Given the description of an element on the screen output the (x, y) to click on. 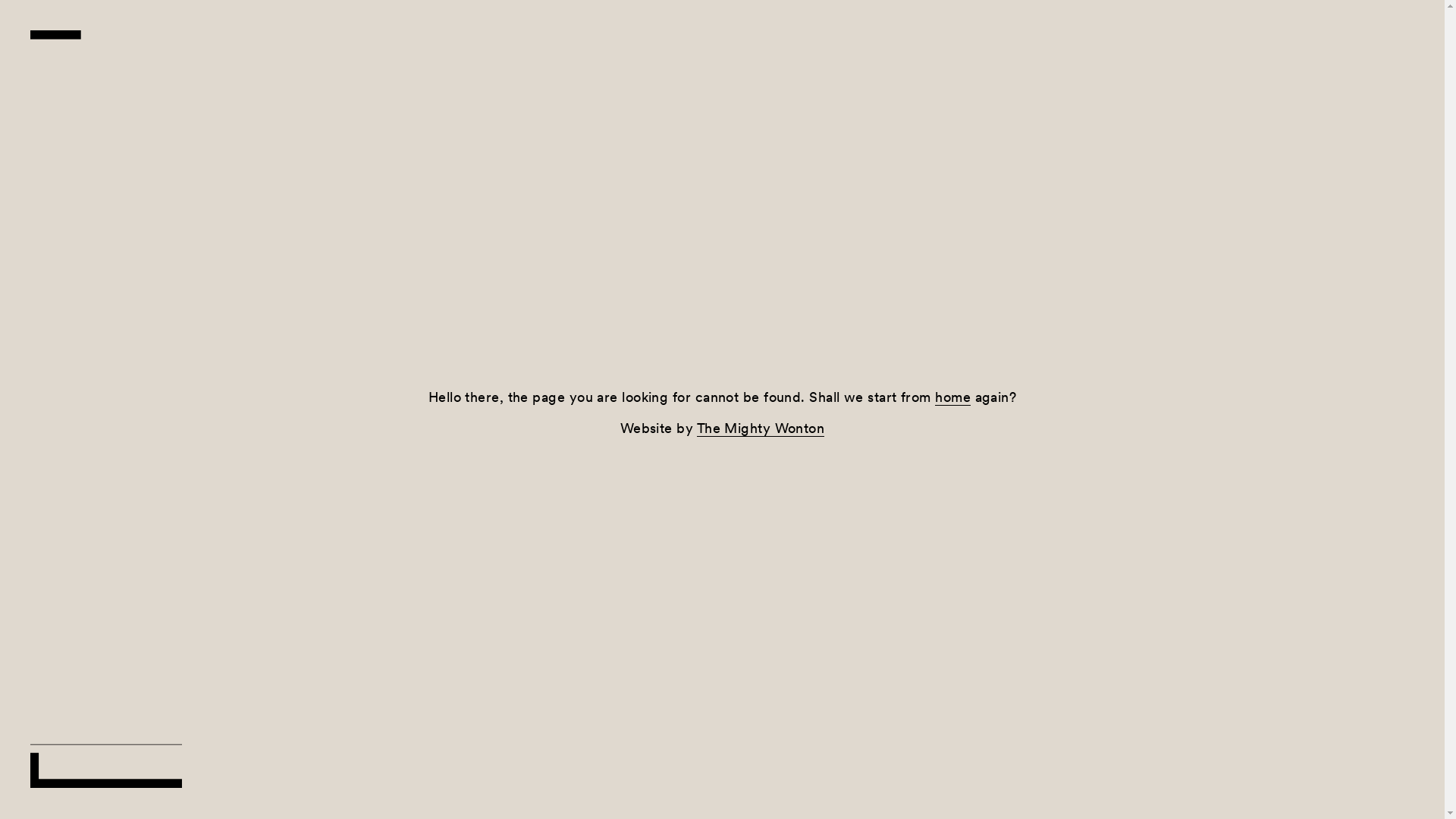
home Element type: text (952, 397)
The Mighty Wonton Element type: text (760, 428)
